Given the description of an element on the screen output the (x, y) to click on. 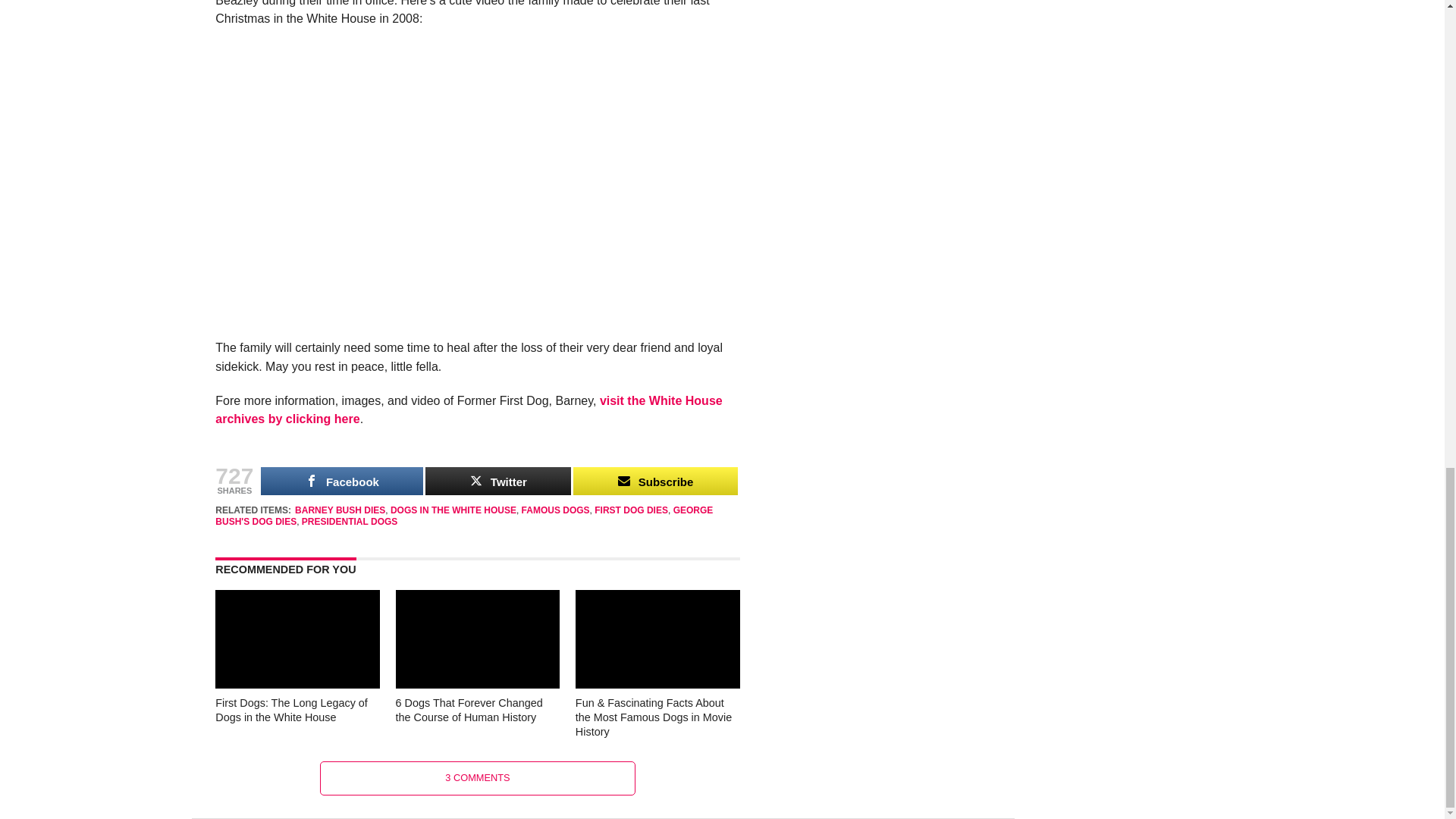
6 Dogs That Forever Changed The Course Of Human History 3 (478, 638)
6 Dogs That Forever Changed the Course of Human History (478, 684)
First Dogs: The Long Legacy Of Dogs In The White House 1 (297, 638)
First Dogs: The Long Legacy of Dogs in the White House (297, 684)
